Given the description of an element on the screen output the (x, y) to click on. 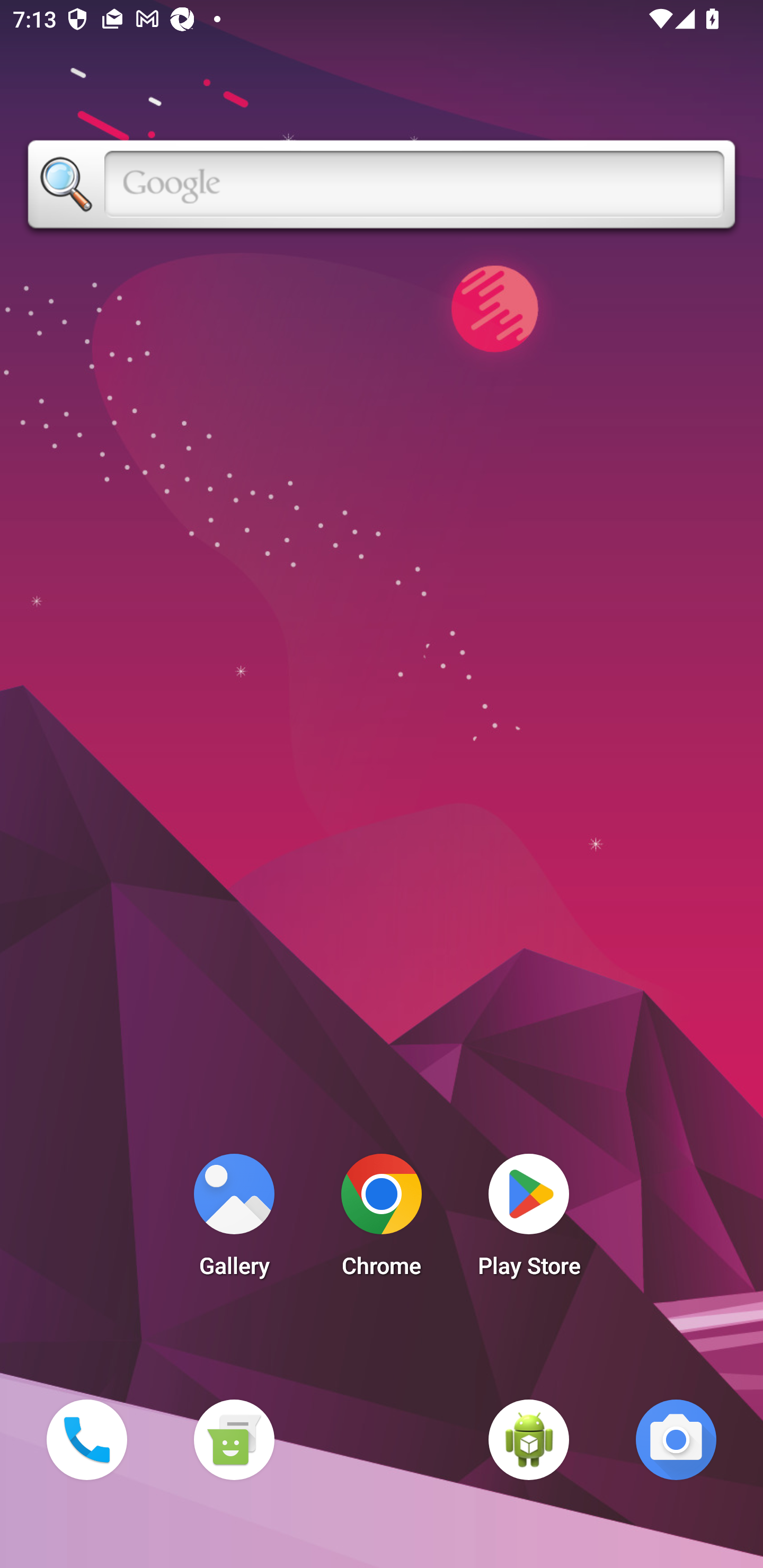
Gallery (233, 1220)
Chrome (381, 1220)
Play Store (528, 1220)
Phone (86, 1439)
Messaging (233, 1439)
WebView Browser Tester (528, 1439)
Camera (676, 1439)
